Given the description of an element on the screen output the (x, y) to click on. 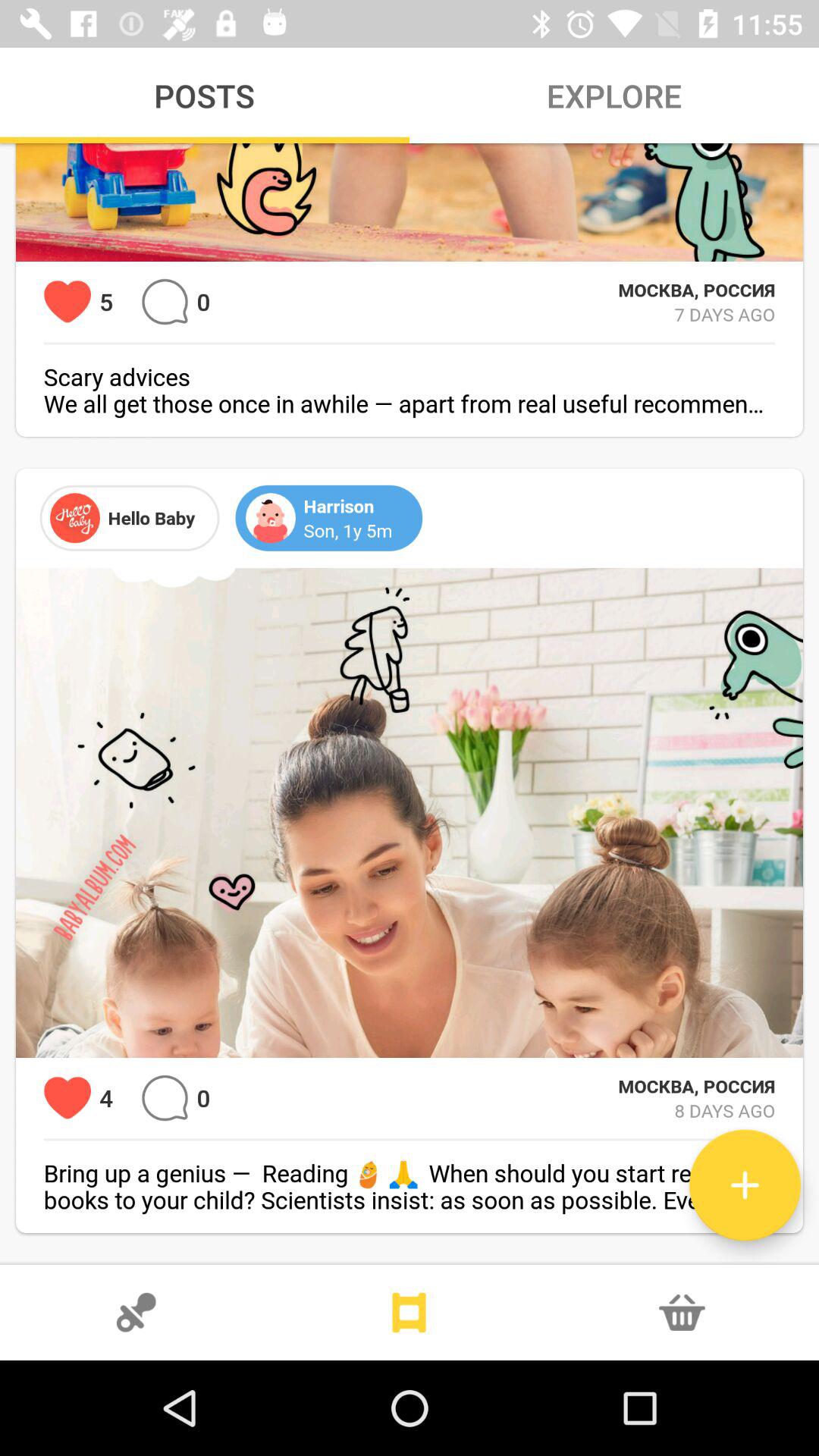
heart this photo (67, 1098)
